Given the description of an element on the screen output the (x, y) to click on. 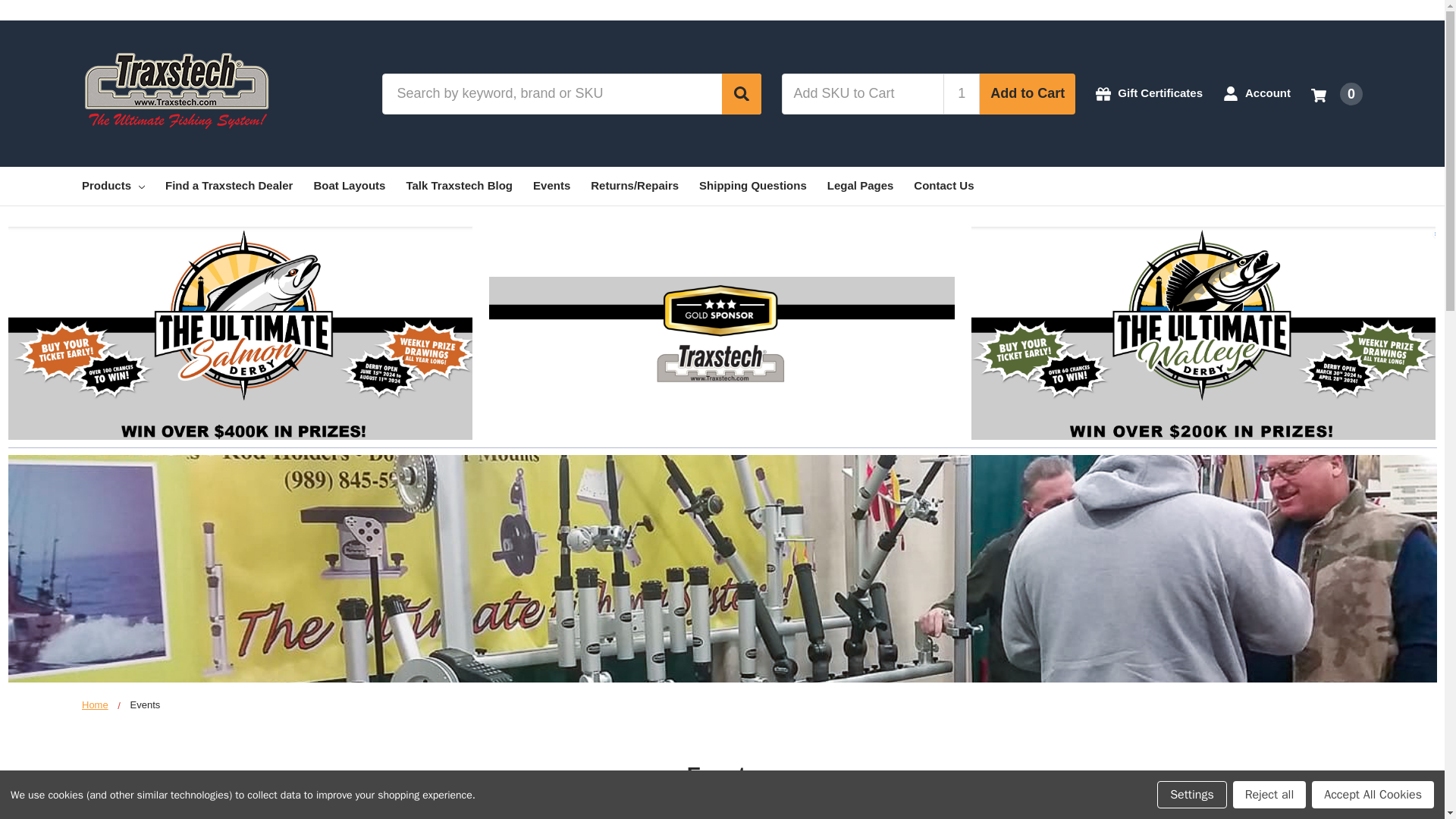
Add to Cart (1027, 92)
Talk Traxstech Blog (459, 186)
The Ultimate Fishing System (175, 87)
0 (1336, 93)
Gift Certificates (1149, 93)
Products (112, 186)
Account (1256, 93)
Find a Traxstech Dealer (228, 186)
Boat Layouts (349, 186)
